Given the description of an element on the screen output the (x, y) to click on. 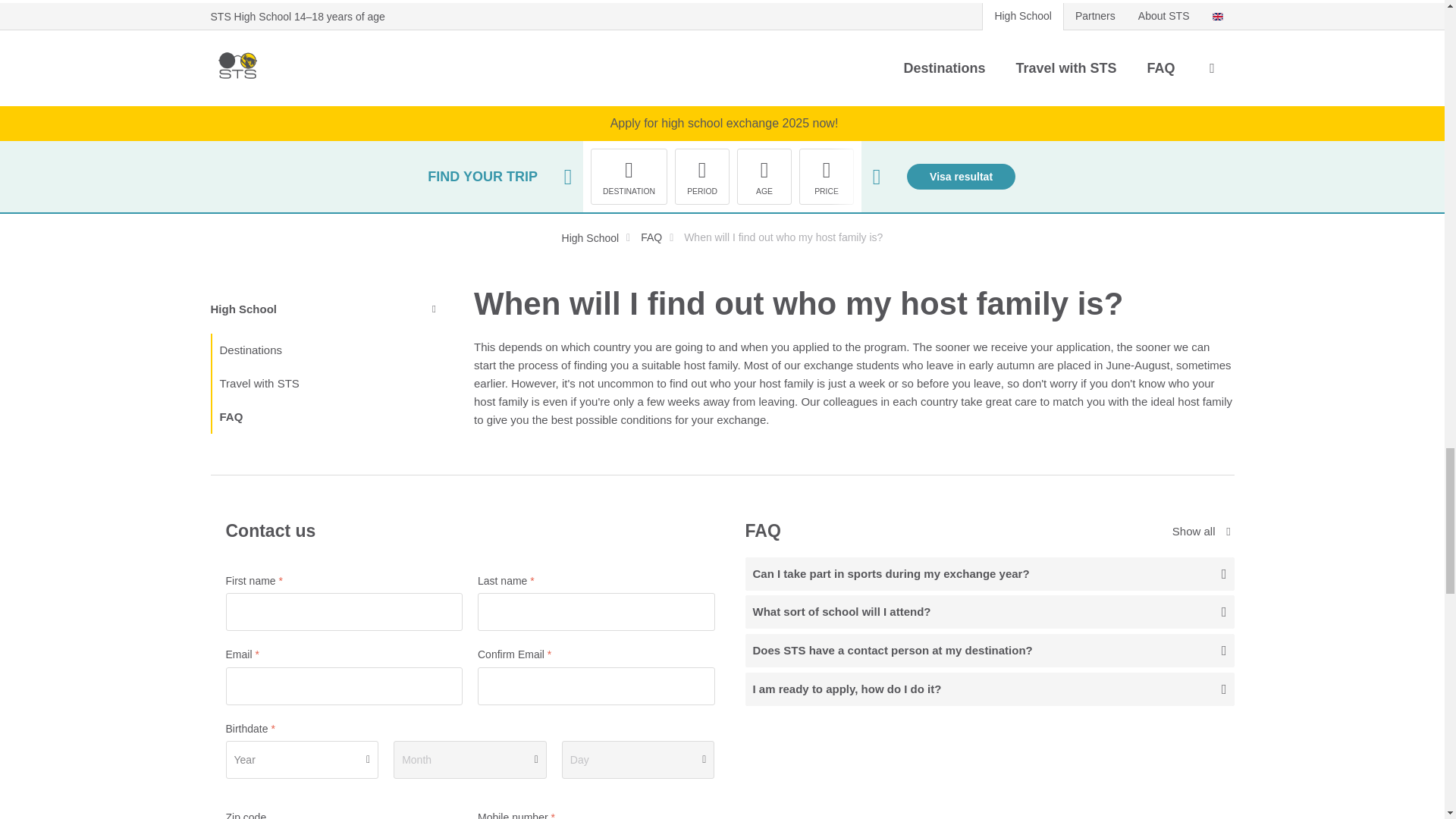
FAQ (647, 237)
Destinations (944, 68)
About STS (1163, 16)
High School (590, 237)
Travel with STS (1065, 68)
Partners (1095, 16)
High School (1022, 16)
Home (237, 68)
